Given the description of an element on the screen output the (x, y) to click on. 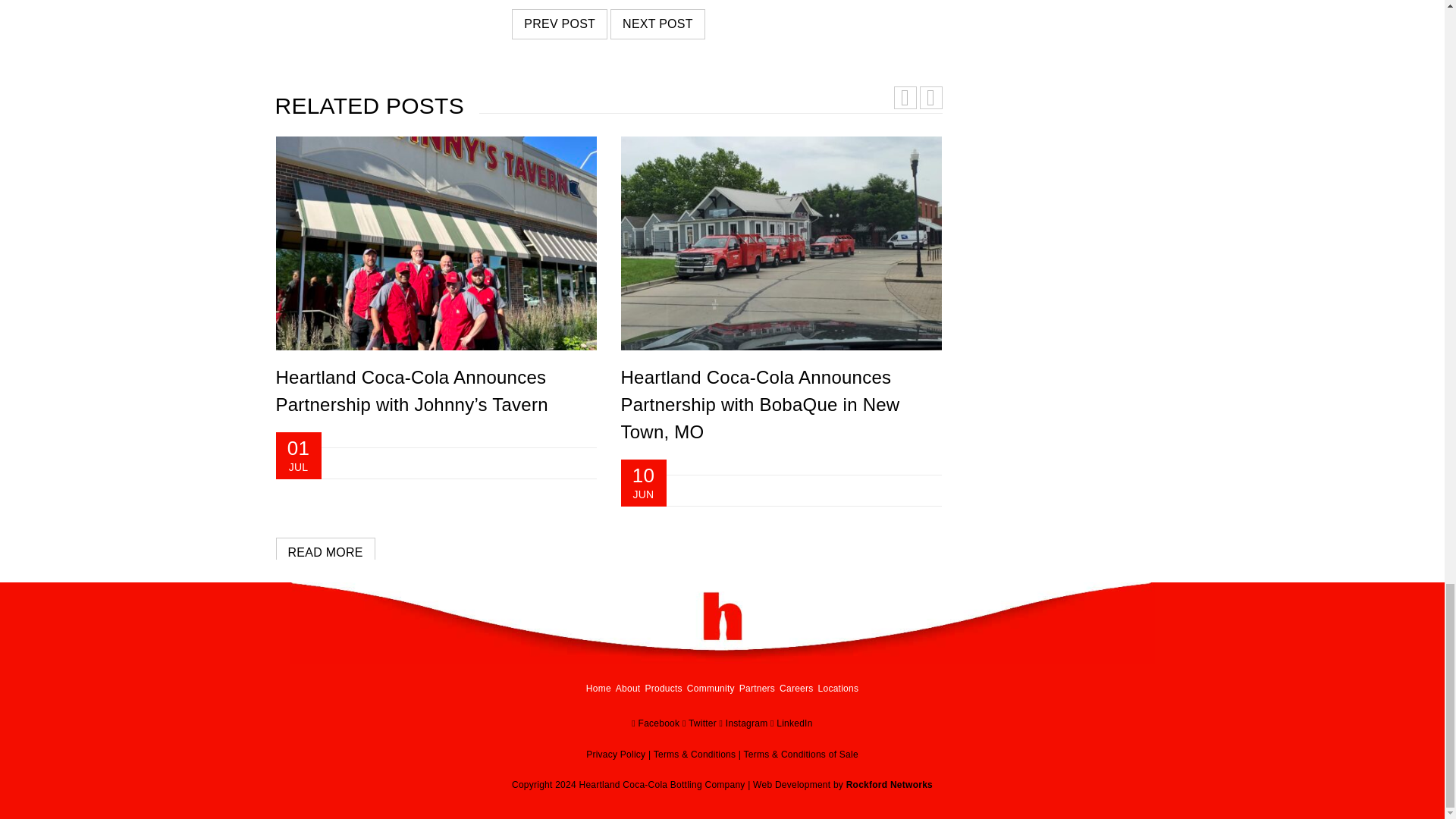
NEXT POST (657, 24)
PREV POST (559, 24)
